Given the description of an element on the screen output the (x, y) to click on. 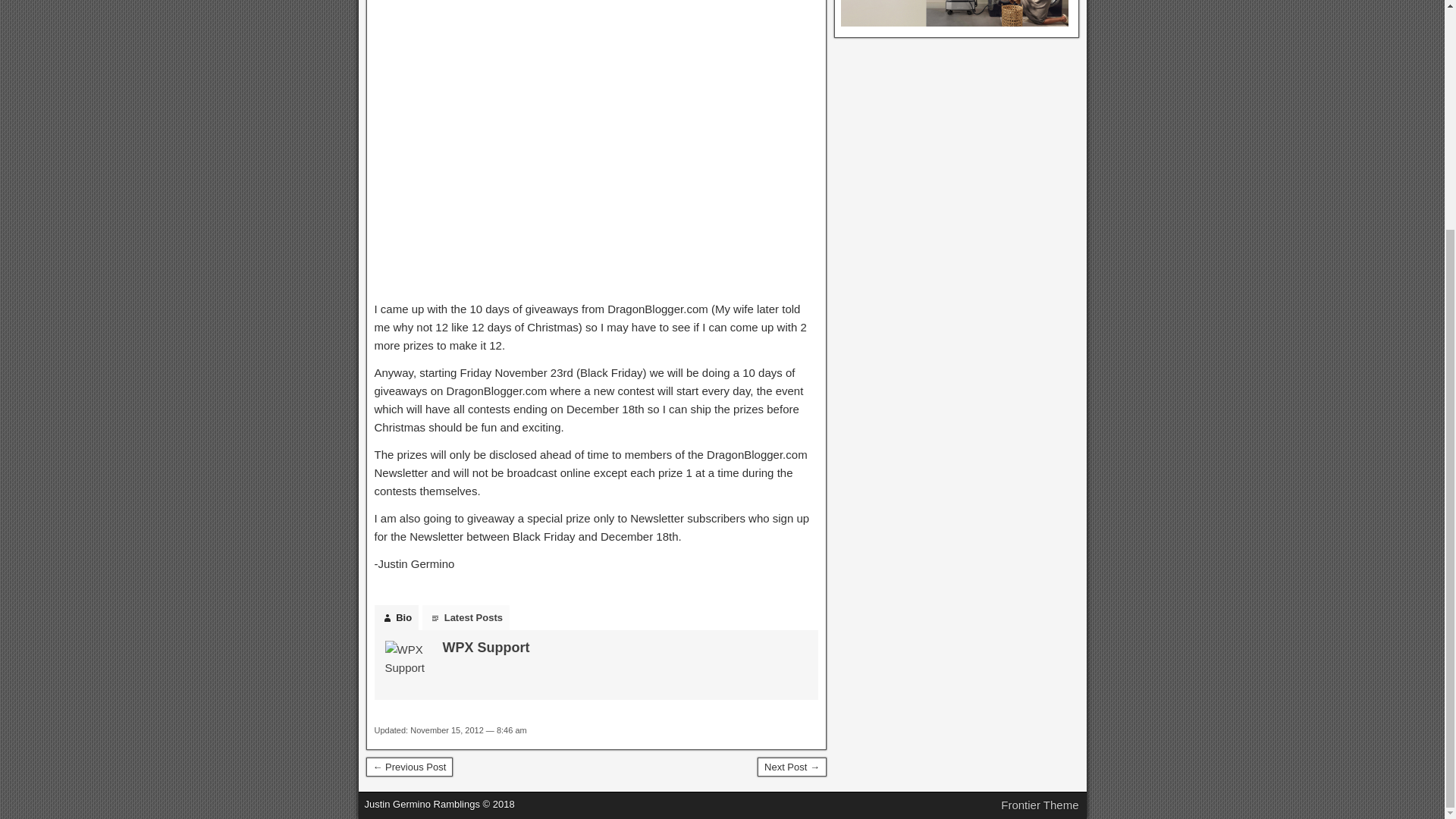
Frontier Theme (1039, 804)
4 Popular Strategic Board Games for Family and Friends (792, 767)
image (595, 145)
Bio (396, 617)
Latest Posts (465, 617)
Star Craft 2 Heart of the Swarm Release Date (408, 767)
